Given the description of an element on the screen output the (x, y) to click on. 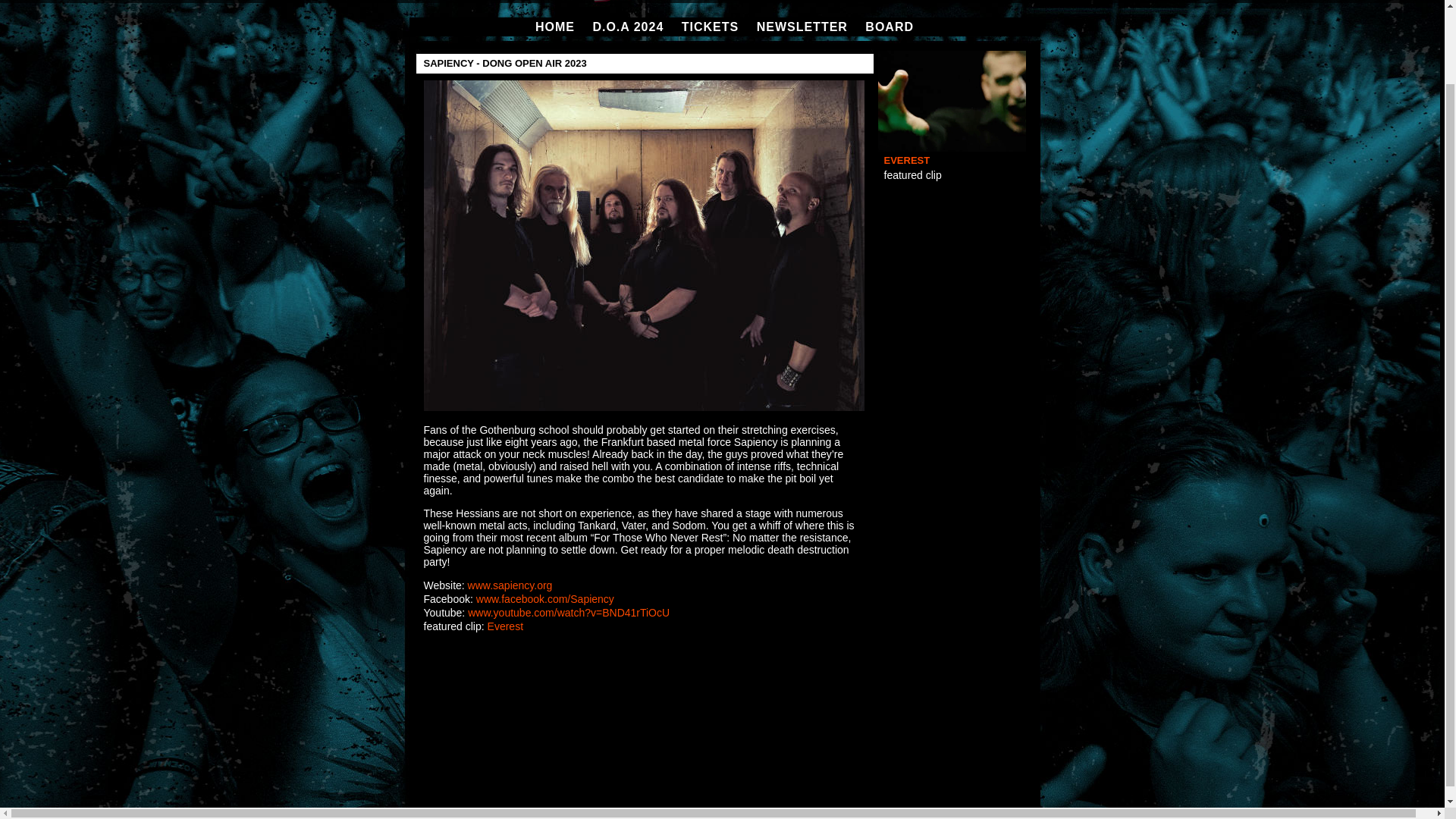
HOME (555, 26)
D.O.A 2024 (627, 26)
TICKETS (709, 26)
NEWSLETTER (802, 26)
BOARD (889, 26)
